Given the description of an element on the screen output the (x, y) to click on. 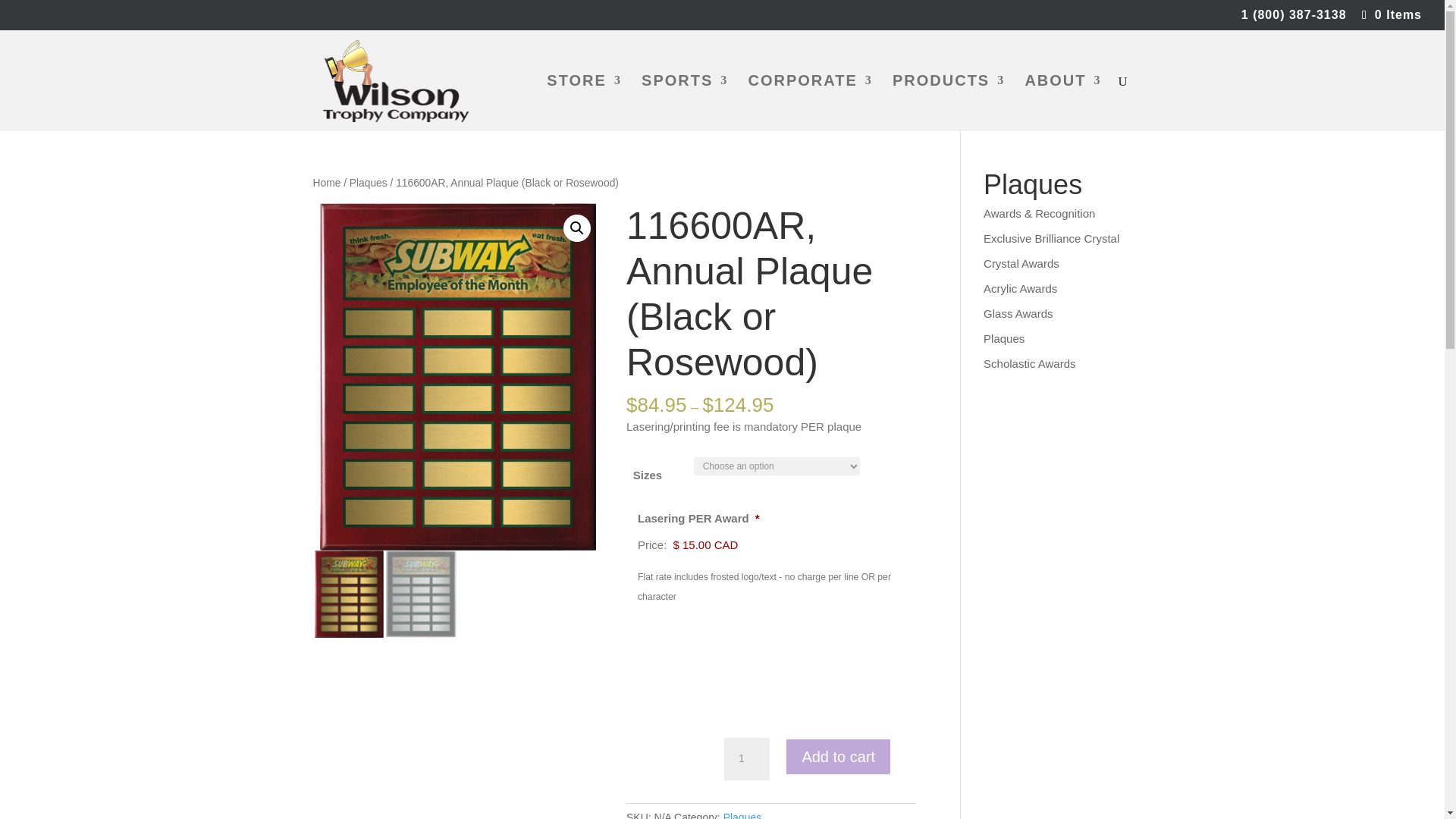
STORE (584, 102)
0 Items (1390, 14)
1 (746, 758)
SPORTS (685, 102)
